Given the description of an element on the screen output the (x, y) to click on. 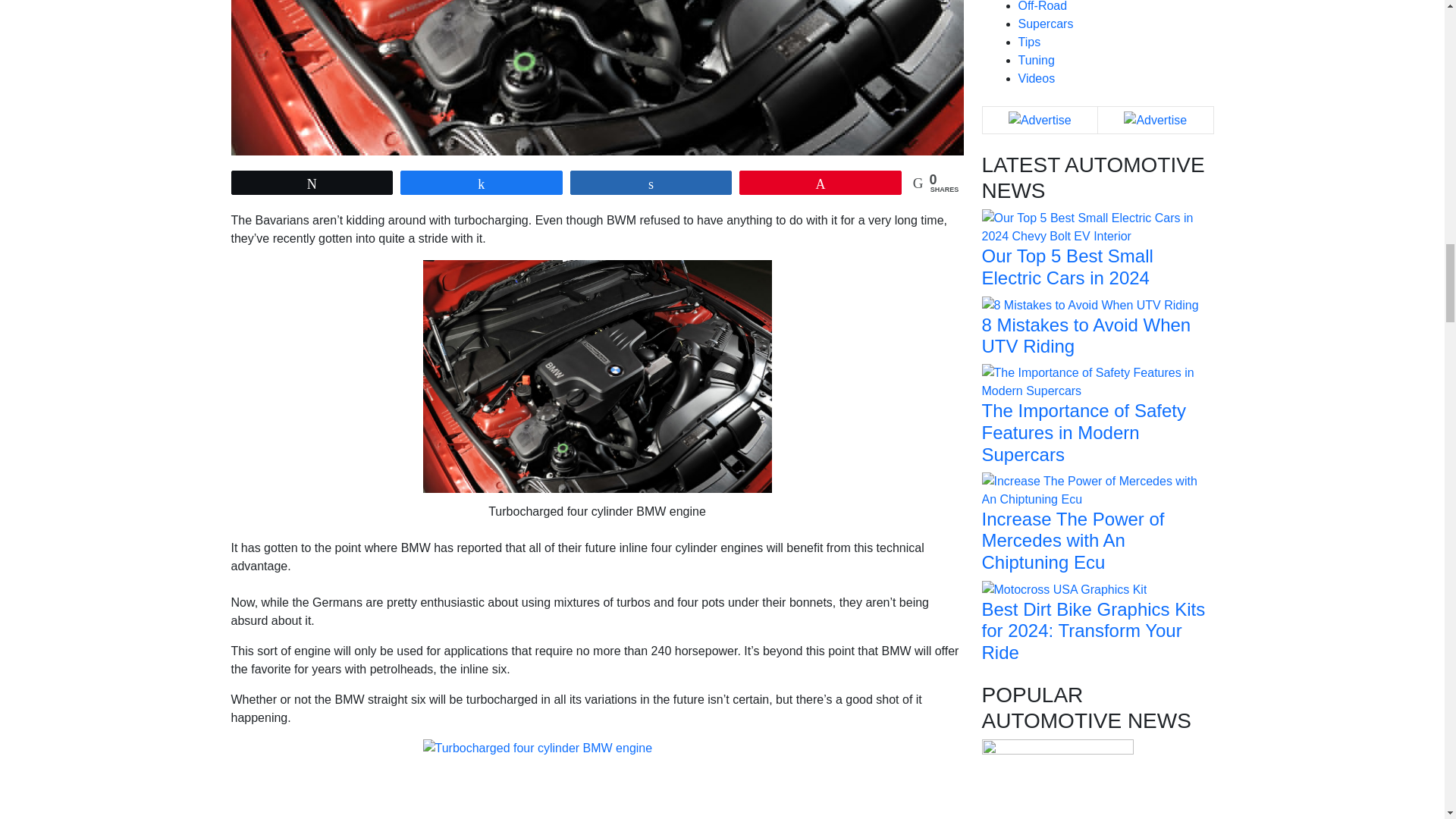
8 Mistakes to Avoid When UTV Riding (1089, 304)
Advertise (1040, 119)
Skoda Yeti to be produced in Ukraine (1056, 813)
Best Dirt Bike Graphics Kits for 2024: Transform Your Ride (1064, 588)
The Importance of Safety Features in Modern Supercars (1096, 380)
Advertise (1155, 119)
Increase The Power of Mercedes with An Chiptuning Ecu (1096, 489)
Our Top 5 Best Small Electric Cars in 2024 (1096, 226)
